Given the description of an element on the screen output the (x, y) to click on. 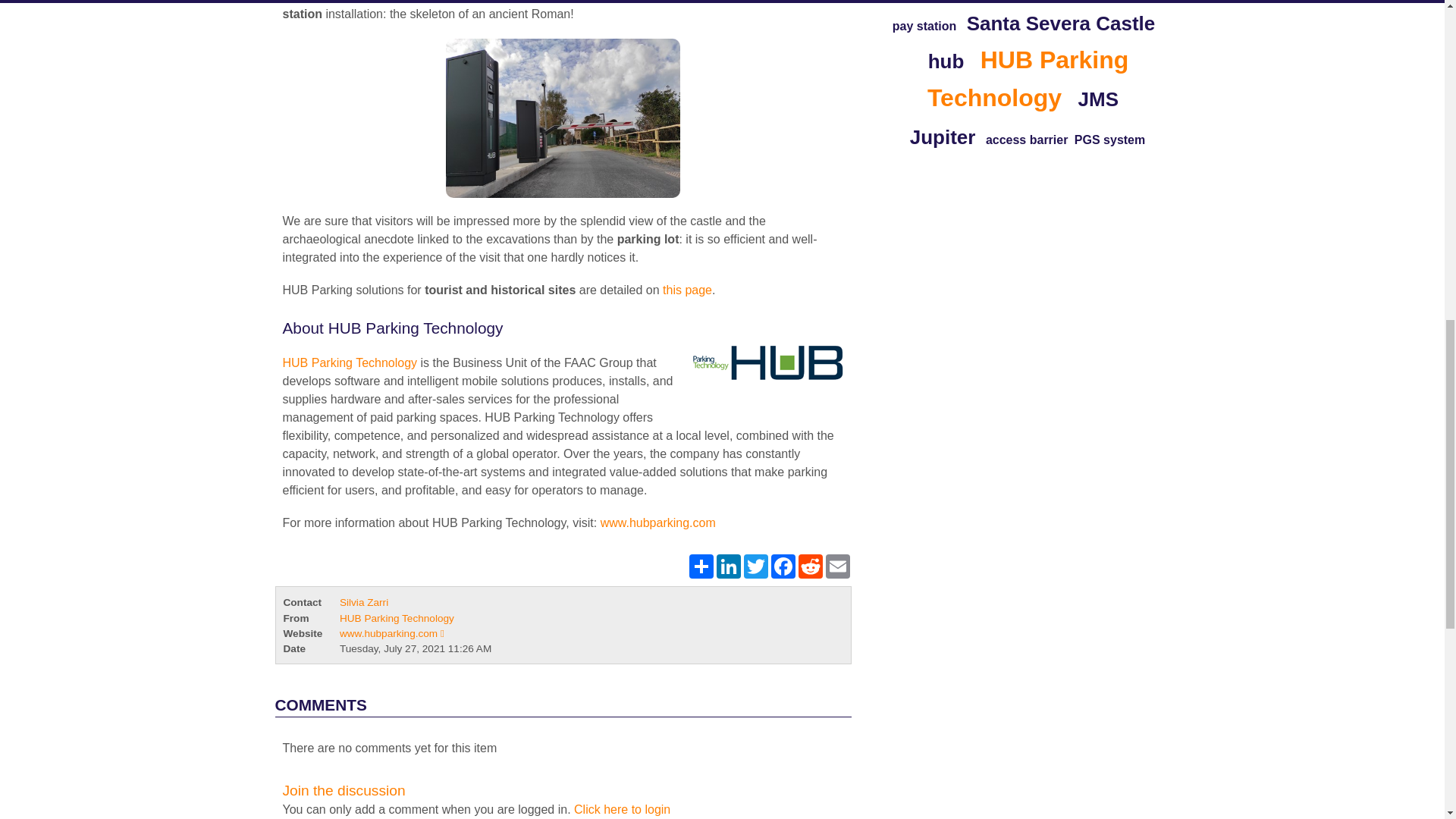
View profile of HUB Parking Technology  (396, 618)
HUB (763, 362)
this page (686, 289)
HUB Parking Technology (349, 362)
HUB (686, 289)
www.hubparking.com (657, 522)
Click here to login (621, 809)
View website of HUB Parking Technology  (391, 633)
view the company profile (349, 362)
visit www.hubparking.com (657, 522)
